Given the description of an element on the screen output the (x, y) to click on. 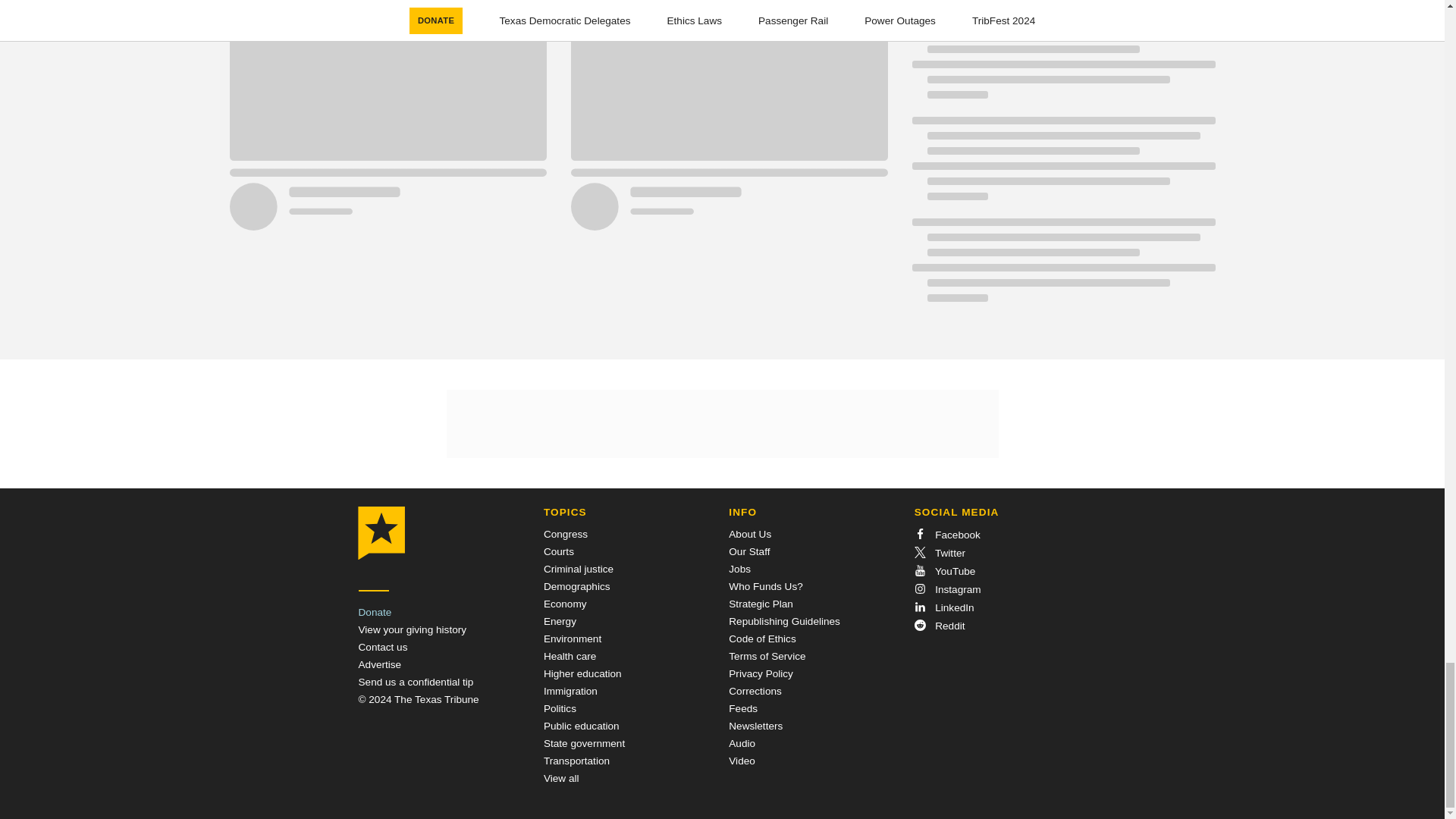
Donate (374, 612)
Facebook (946, 534)
Loading indicator (1062, 267)
Advertise (379, 664)
Contact us (382, 646)
Video (742, 760)
Privacy Policy (761, 673)
Who Funds Us? (765, 586)
Loading indicator (1062, 64)
Strategic Plan (761, 603)
Send a Tip (415, 681)
Republishing Guidelines (784, 621)
Corrections (755, 690)
Loading indicator (1062, 166)
Code of Ethics (761, 638)
